Given the description of an element on the screen output the (x, y) to click on. 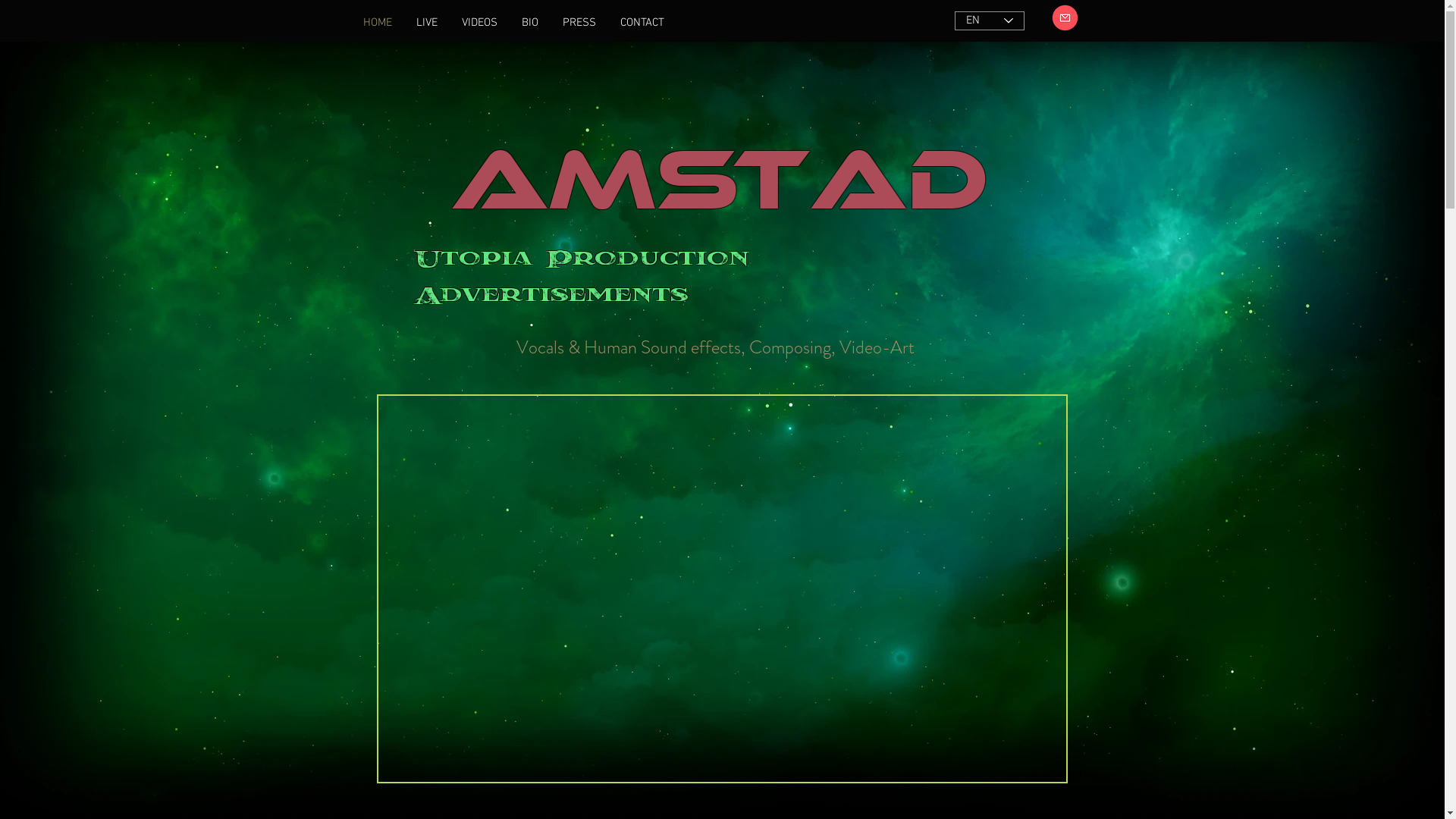
LIVE Element type: text (425, 22)
BIO Element type: text (529, 22)
Amstad Element type: text (719, 161)
PRESS Element type: text (579, 22)
HOME Element type: text (376, 22)
CONTACT Element type: text (642, 22)
VIDEOS Element type: text (478, 22)
